Given the description of an element on the screen output the (x, y) to click on. 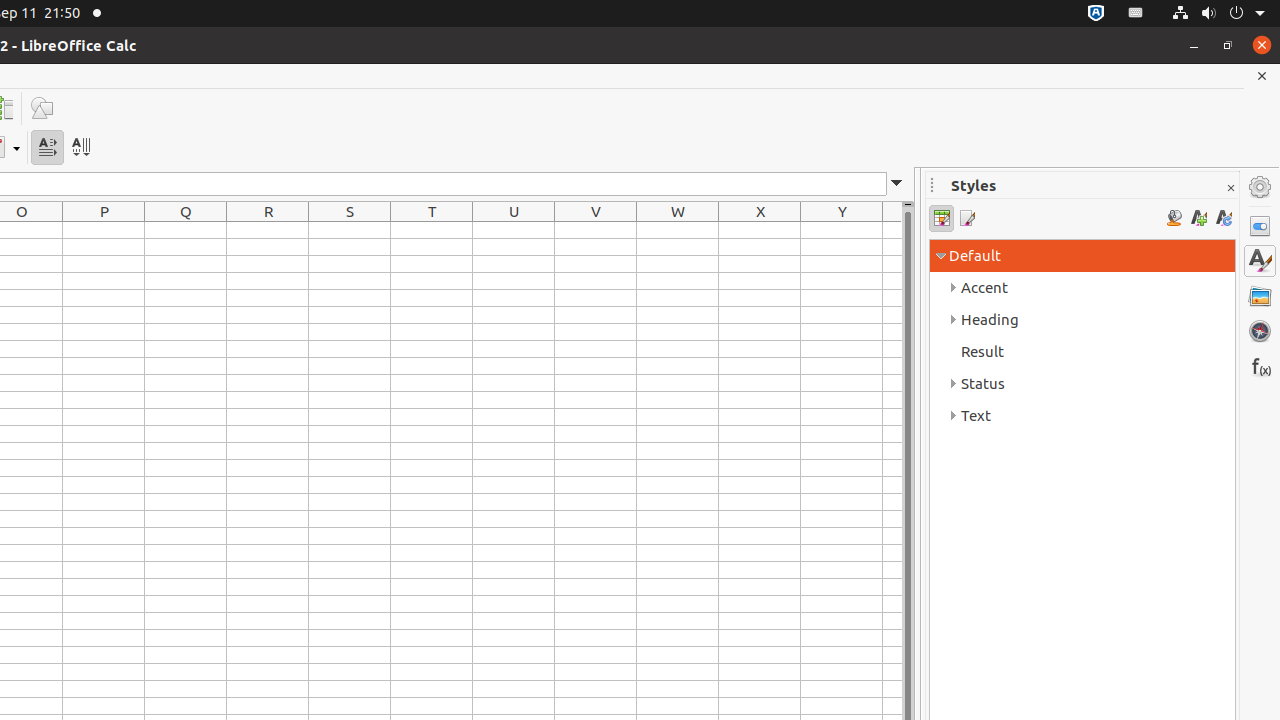
W1 Element type: table-cell (678, 230)
T1 Element type: table-cell (432, 230)
V1 Element type: table-cell (596, 230)
Draw Functions Element type: toggle-button (41, 108)
Gallery Element type: radio-button (1260, 296)
